Given the description of an element on the screen output the (x, y) to click on. 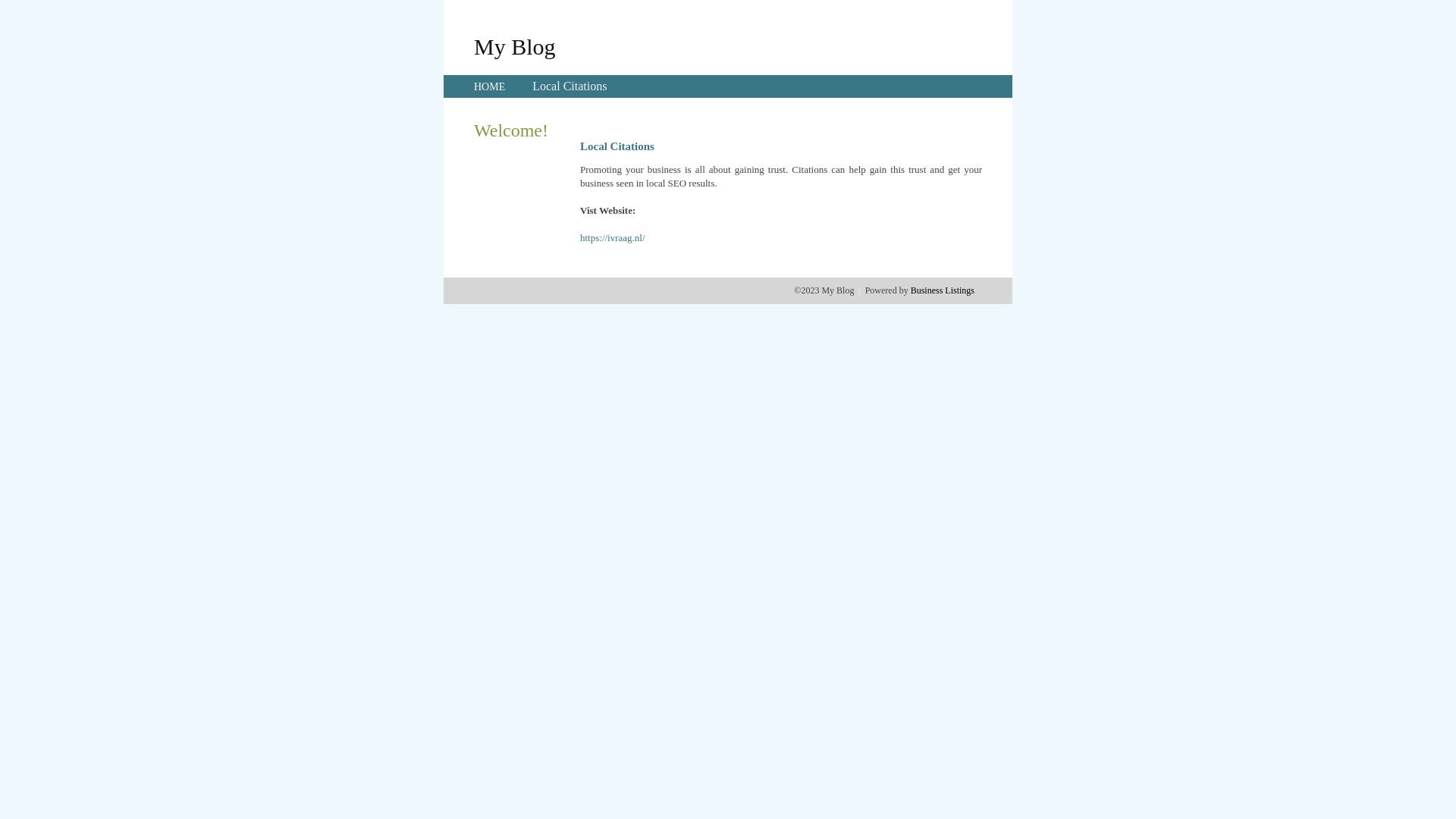
HOME Element type: text (489, 86)
Local Citations Element type: text (569, 85)
Business Listings Element type: text (942, 290)
My Blog Element type: text (514, 46)
https://ivraag.nl/ Element type: text (612, 237)
